Given the description of an element on the screen output the (x, y) to click on. 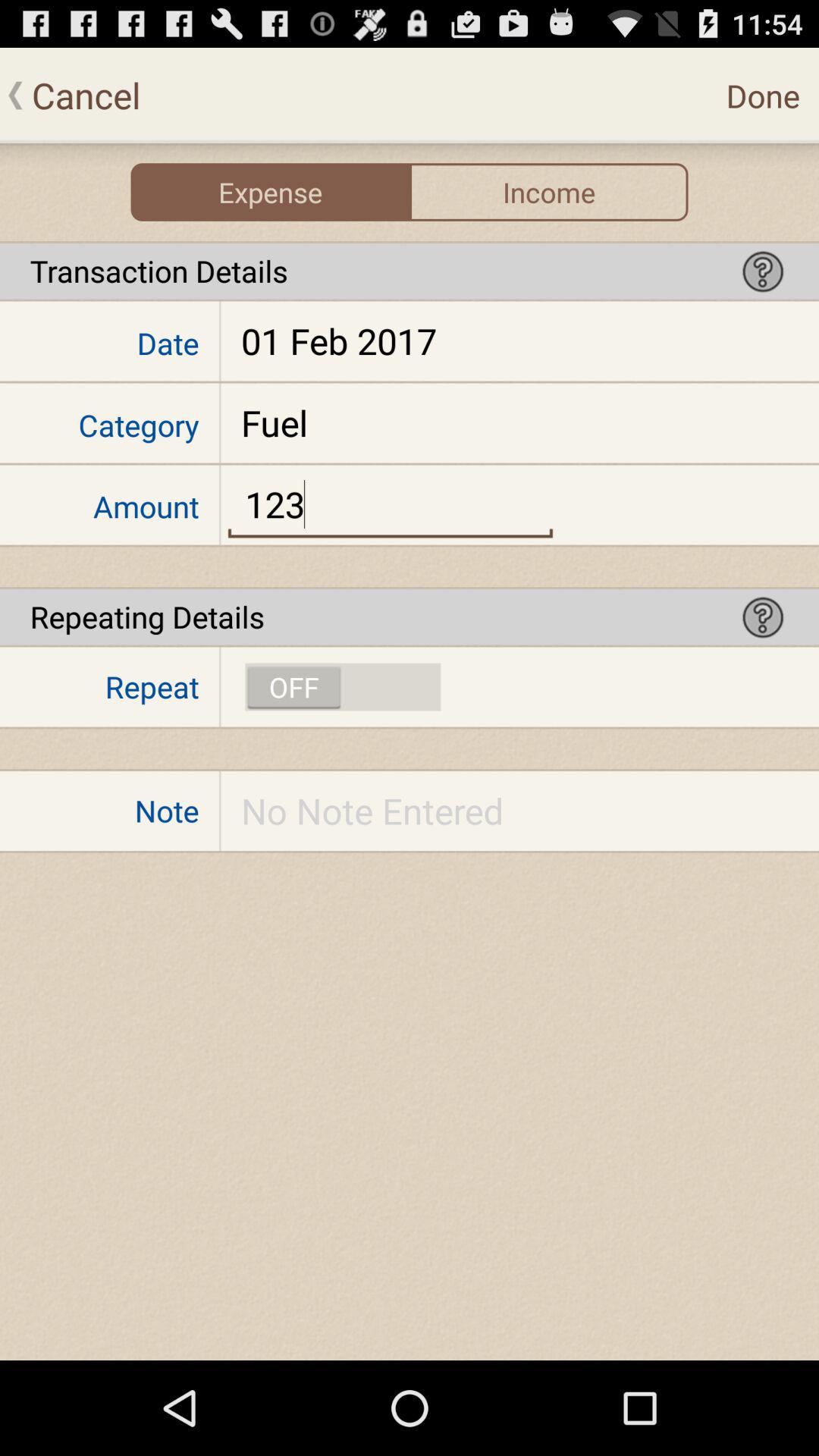
more option (762, 271)
